Given the description of an element on the screen output the (x, y) to click on. 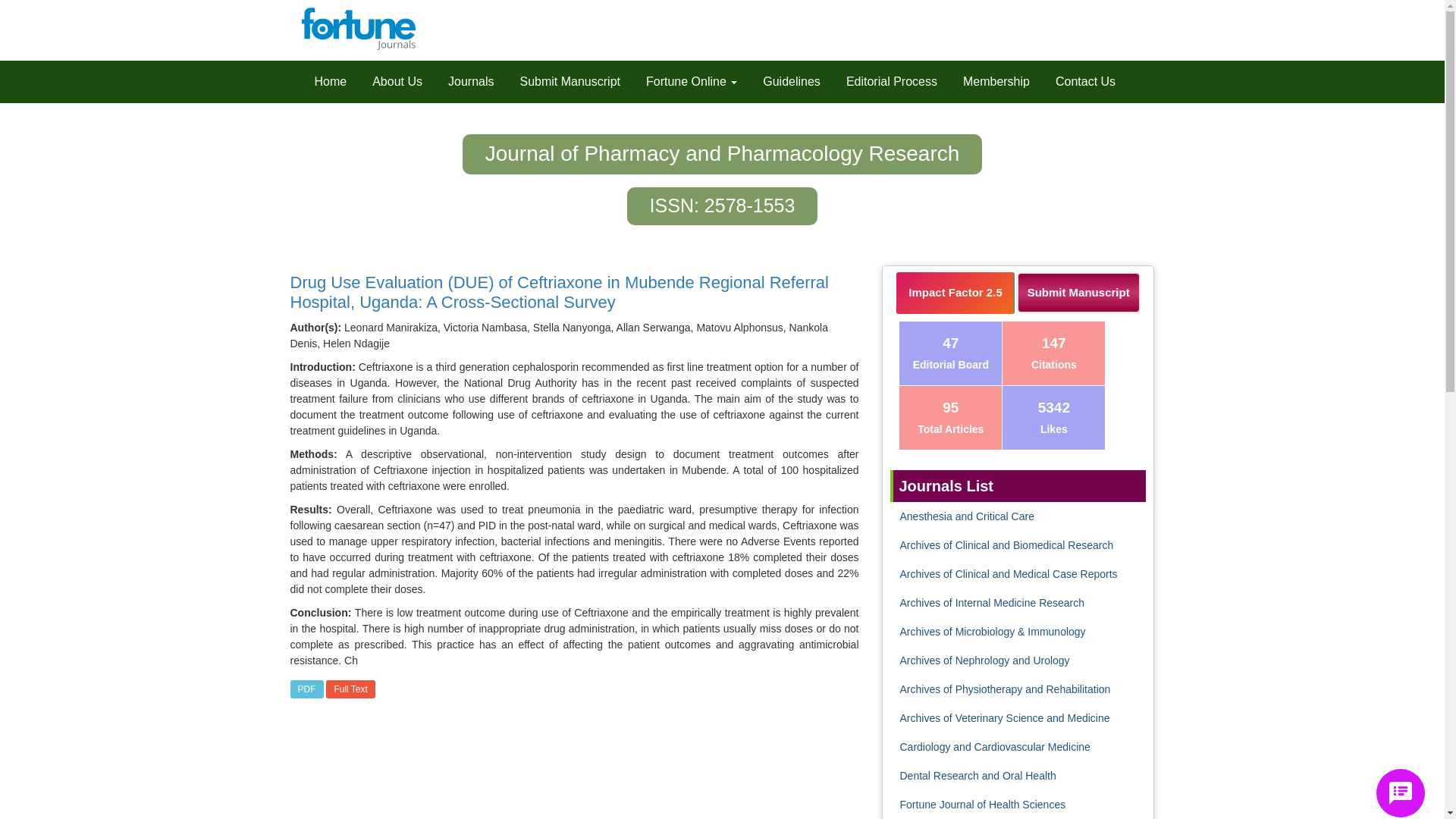
Impact Factor 2.5 (954, 292)
Full Text (350, 689)
Leave a message (1400, 793)
Contact Us (1085, 81)
view Pdf (306, 689)
Archives of Clinical and Medical Case Reports (1007, 573)
Journals (470, 81)
Submit Manuscript (1078, 295)
Home (330, 81)
Dental Research and Oral Health (977, 775)
Cardiology and Cardiovascular Medicine (994, 746)
Archives of Nephrology and Urology (983, 660)
Submit Manuscript (1078, 292)
Archives of Veterinary Science and Medicine (1004, 717)
Submit Manuscript (569, 81)
